Given the description of an element on the screen output the (x, y) to click on. 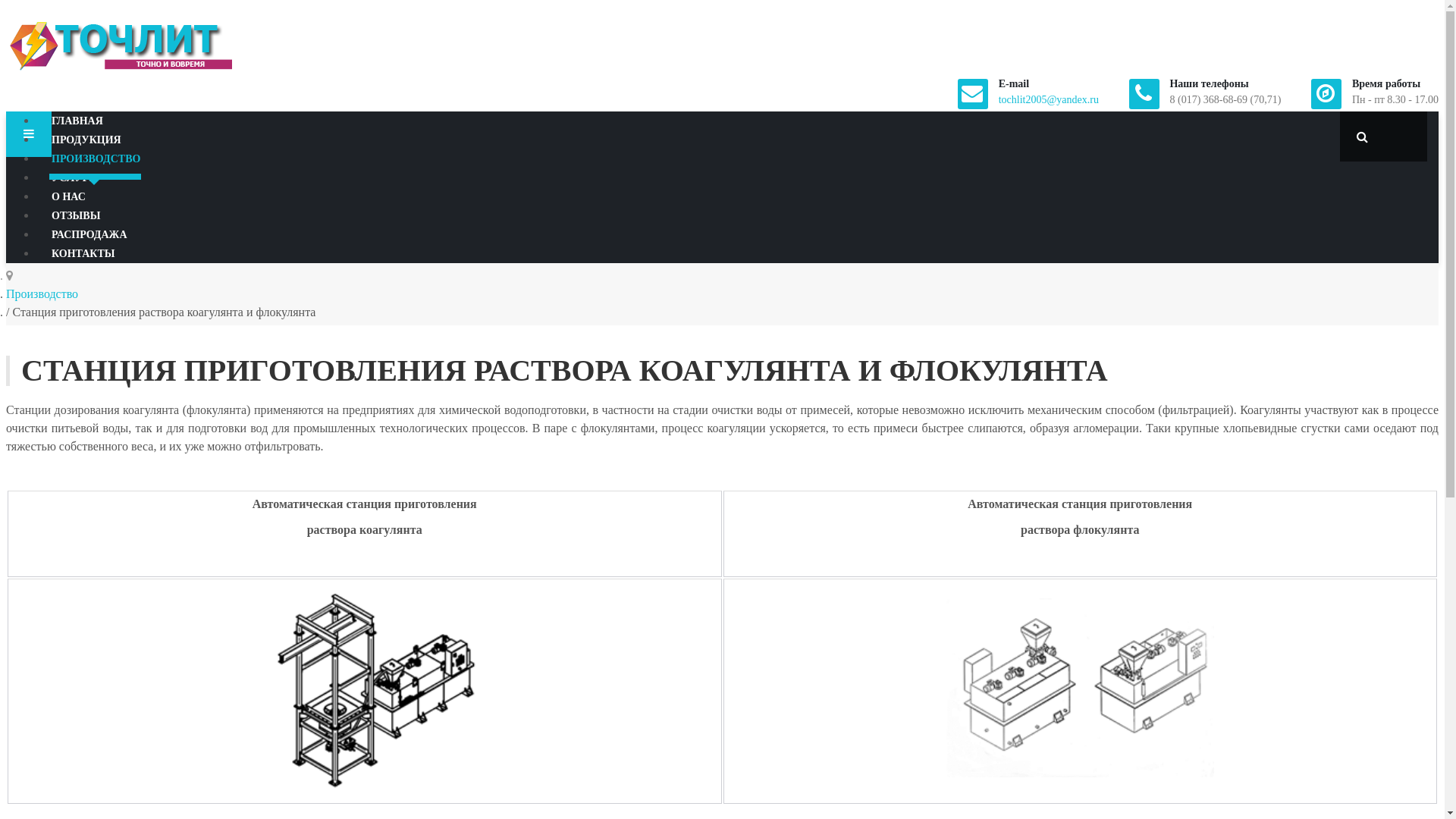
Tochlit.by Element type: hover (119, 45)
tochlit2005@yandex.ru Element type: text (1048, 99)
